Given the description of an element on the screen output the (x, y) to click on. 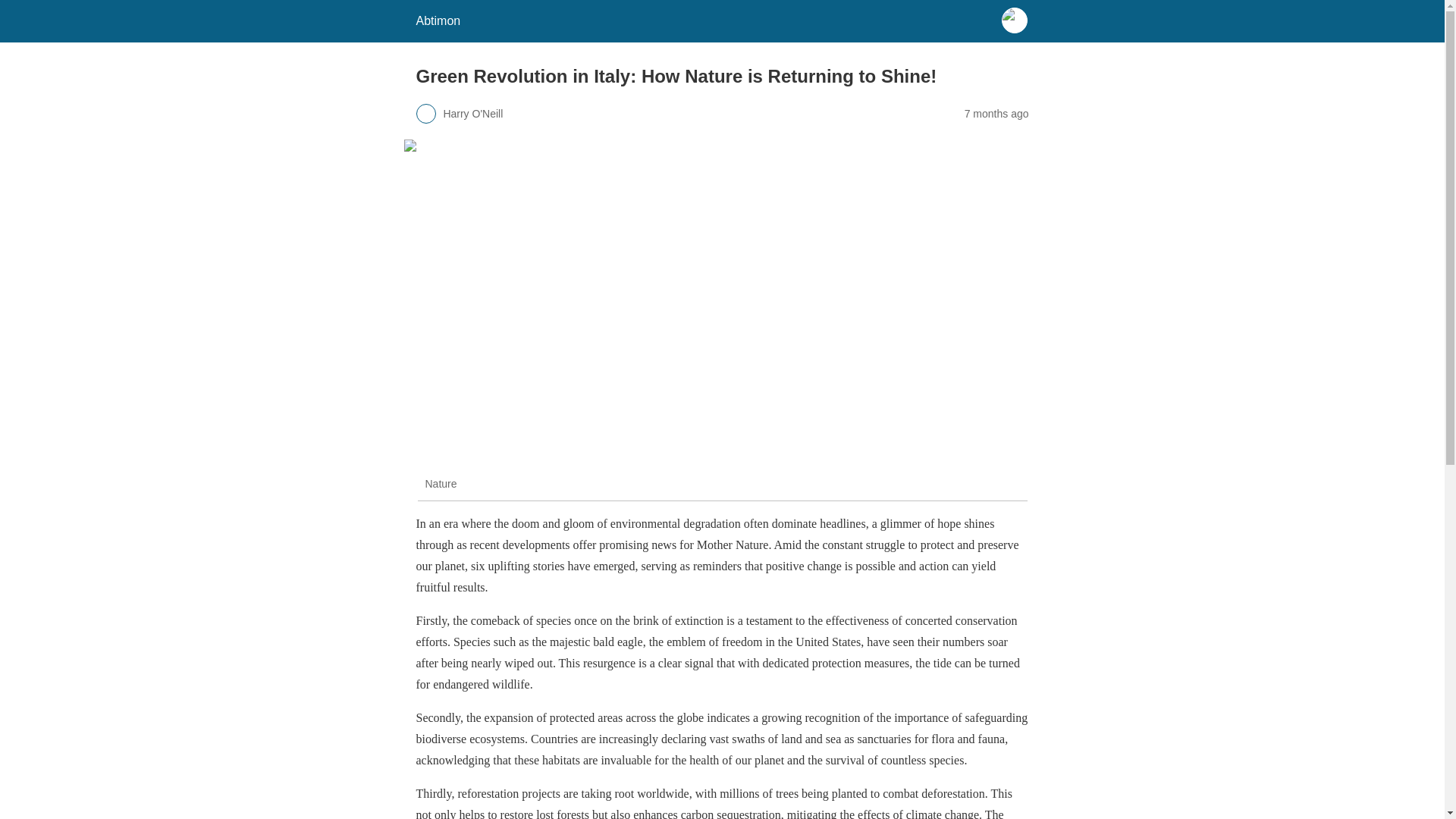
Abtimon (437, 20)
